Given the description of an element on the screen output the (x, y) to click on. 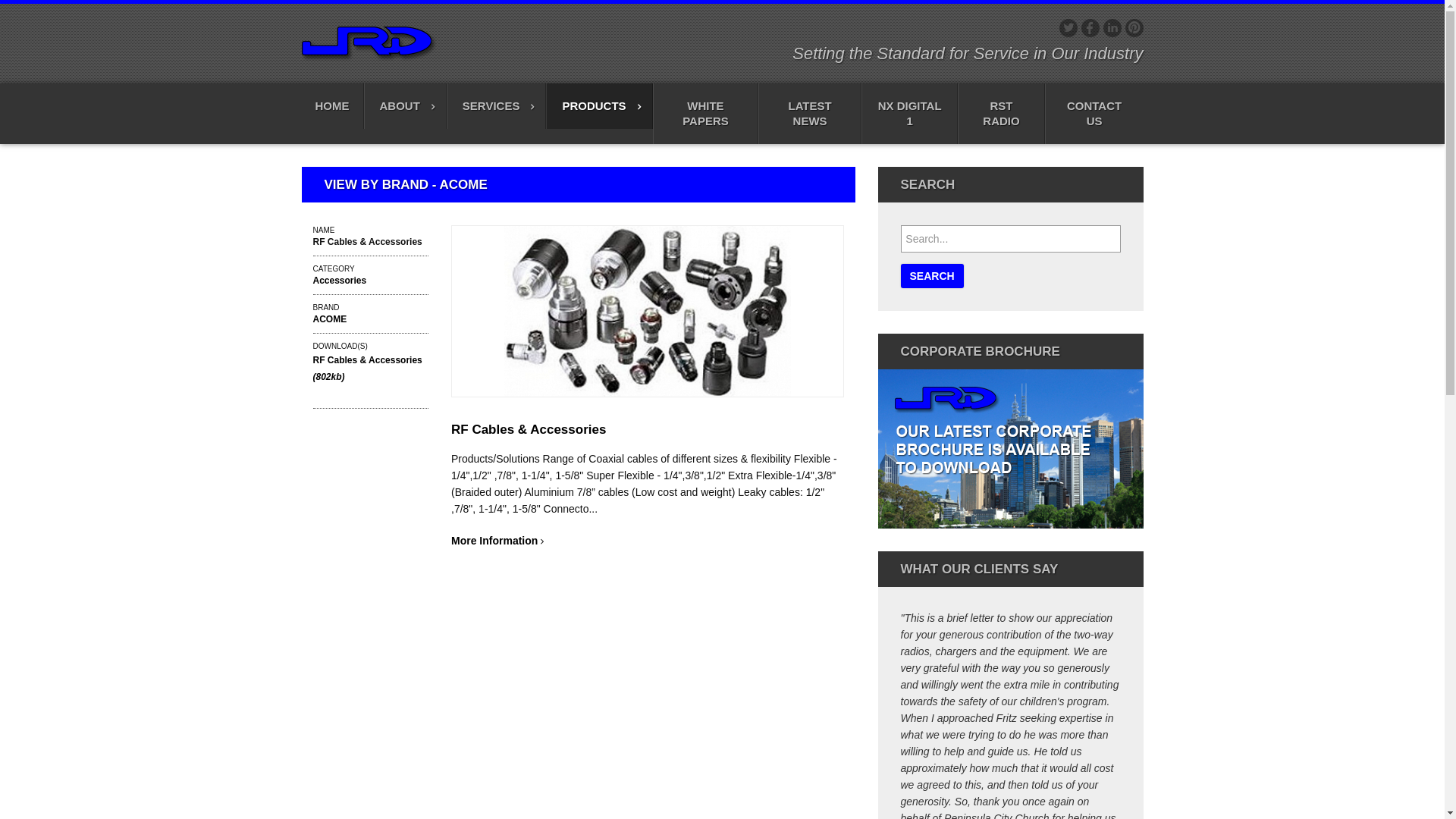
NX DIGITAL 1 Element type: text (909, 113)
RF Cables & Accessories Element type: text (528, 429)
CONTACT US Element type: text (1093, 113)
ABOUT Element type: text (405, 105)
ACOME Element type: text (329, 318)
Search Element type: text (931, 275)
More Information Element type: text (497, 540)
WHITE PAPERS Element type: text (705, 113)
Corporate Brochure Element type: hover (1010, 458)
RST RADIO Element type: text (1000, 113)
HOME Element type: text (332, 105)
RF Cables & Accessories (802kb) Element type: text (366, 368)
PRODUCTS Element type: text (599, 105)
Accessories Element type: text (339, 280)
SERVICES Element type: text (496, 105)
LATEST NEWS Element type: text (809, 113)
